Given the description of an element on the screen output the (x, y) to click on. 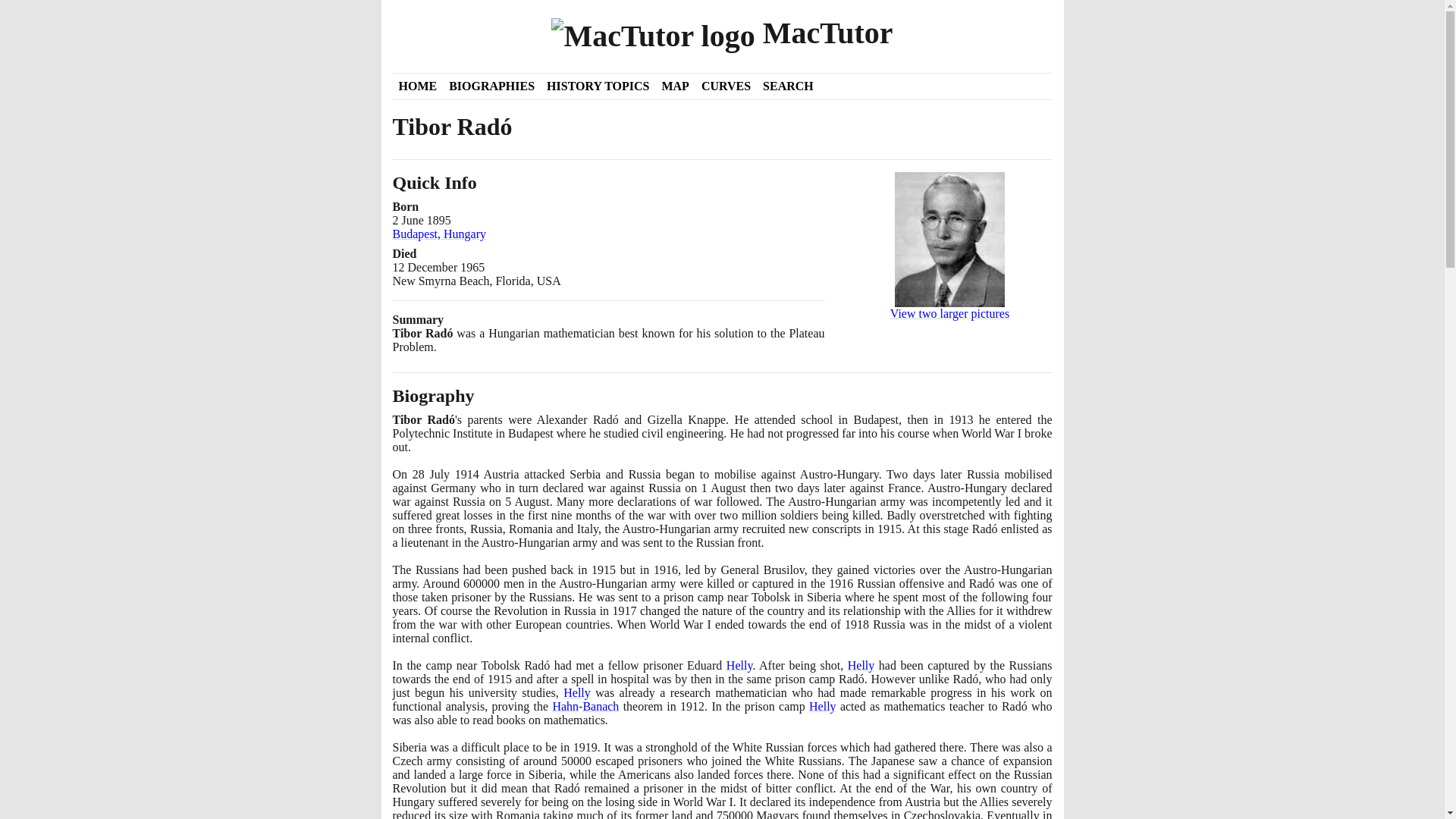
Helly (739, 665)
MAP (674, 86)
HISTORY TOPICS (597, 86)
CURVES (726, 86)
 MacTutor (722, 34)
Hahn (564, 706)
BIOGRAPHIES (491, 86)
View two larger pictures (949, 275)
HOME (418, 86)
SEARCH (788, 86)
